Given the description of an element on the screen output the (x, y) to click on. 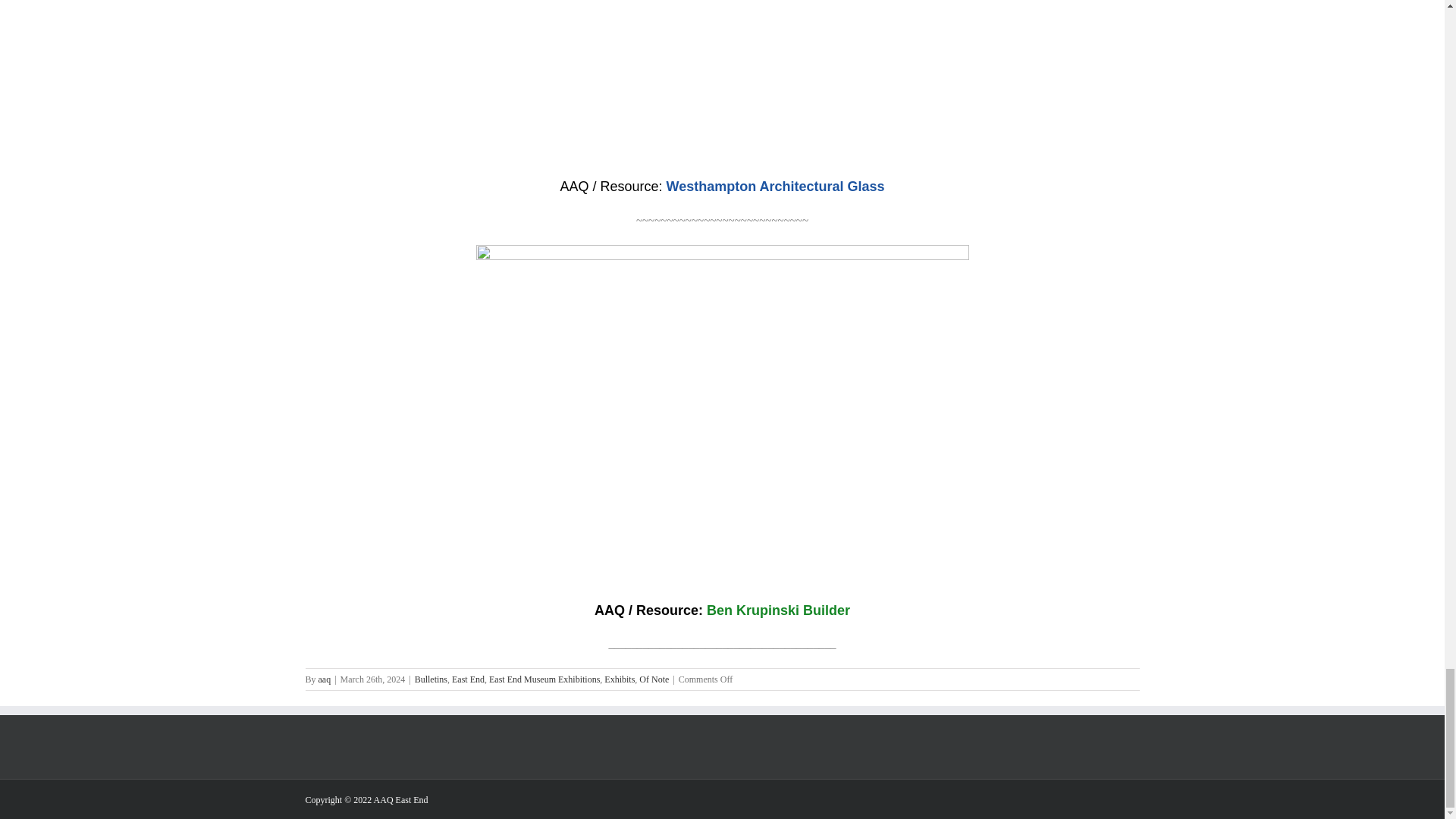
Posts by aaq (324, 679)
